Given the description of an element on the screen output the (x, y) to click on. 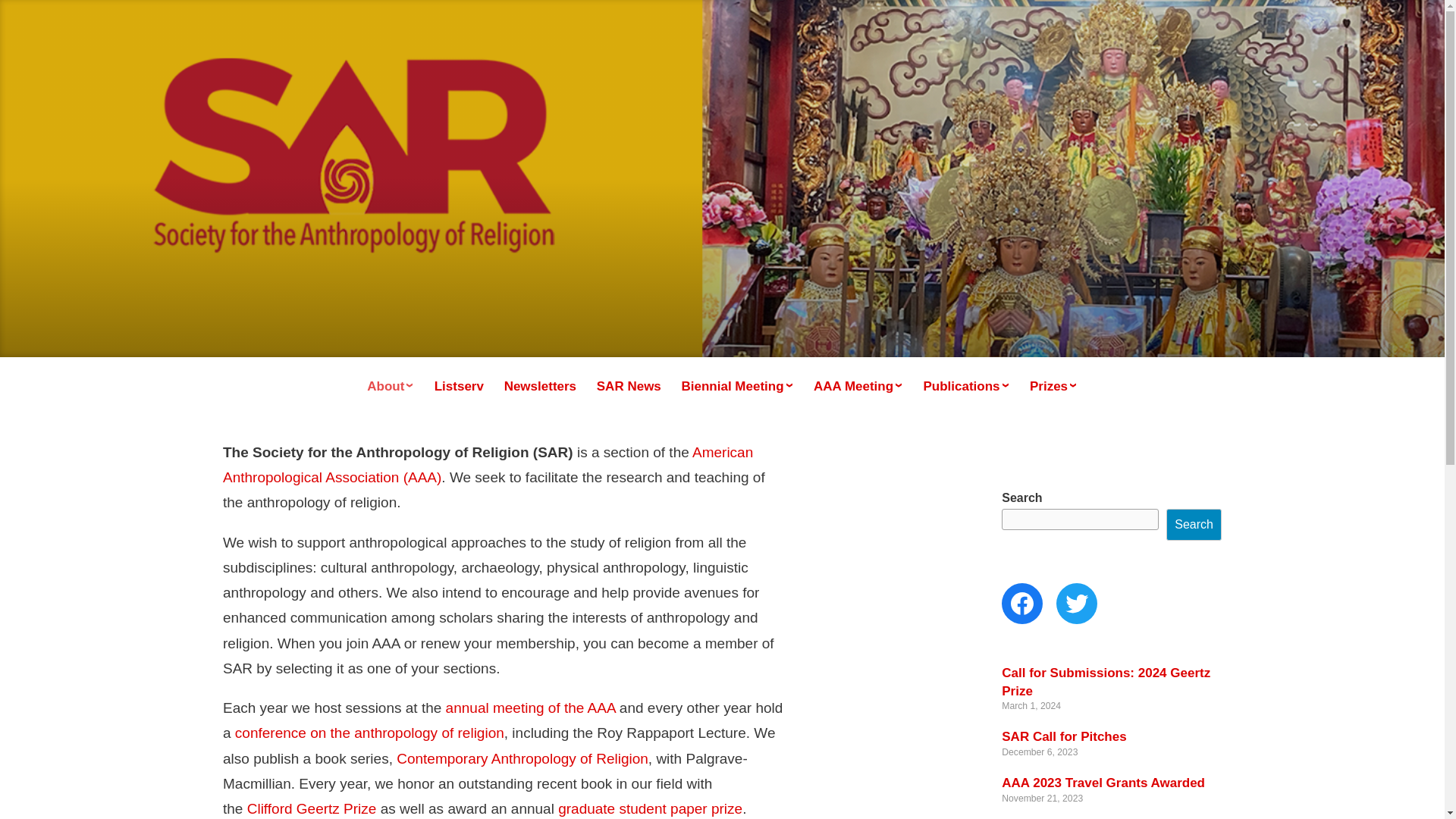
conference on the anthropology of religion (368, 732)
Clifford Geertz Prize (312, 808)
Search (1193, 524)
Society for the Anthropology of Religion (474, 201)
Facebook (1021, 603)
Newsletters (539, 386)
SAR Call for Pitches (1063, 736)
SAR News (628, 386)
Biennial Meeting (737, 386)
Twitter (1077, 603)
